Given the description of an element on the screen output the (x, y) to click on. 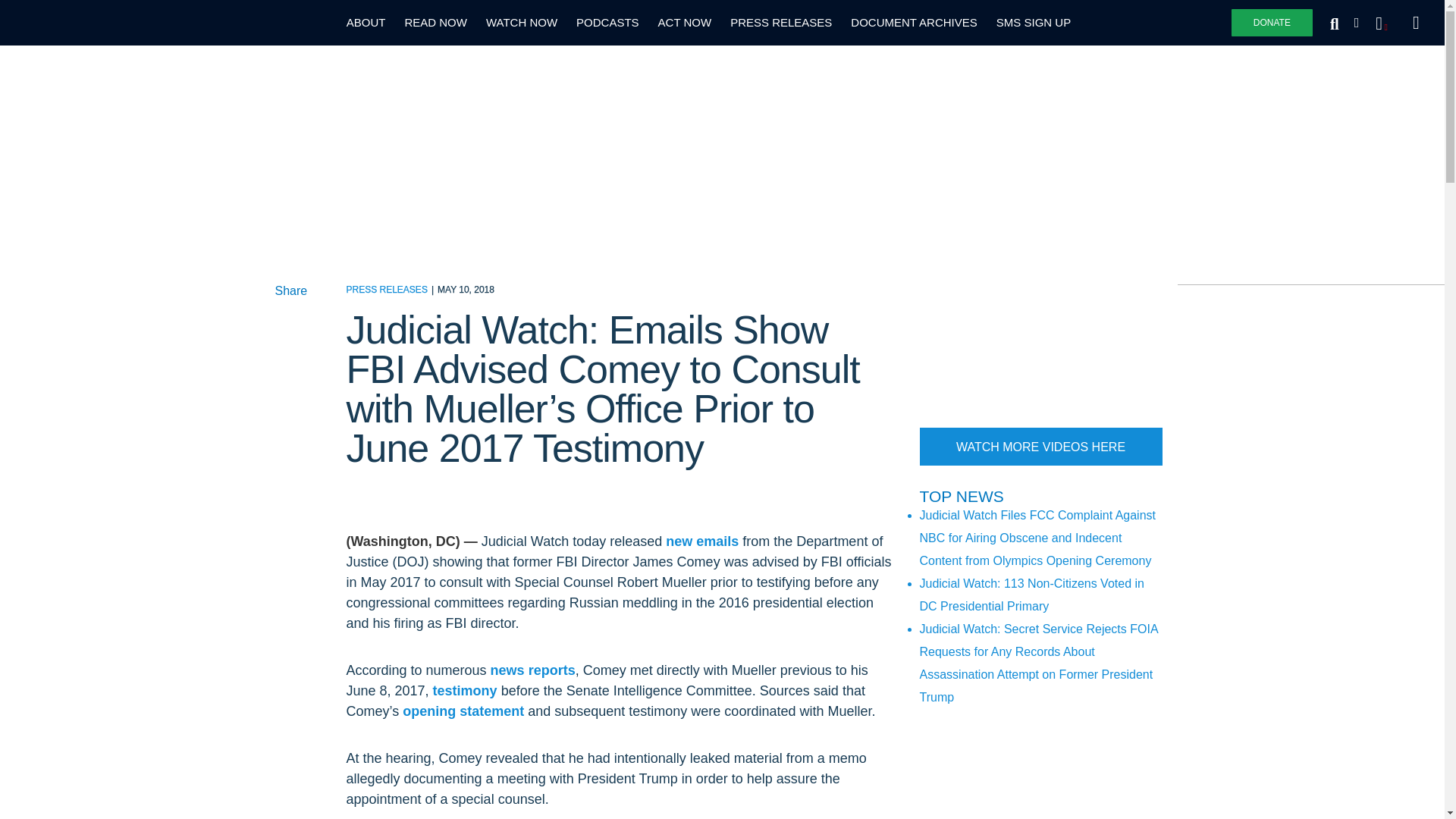
Judicial Watch Homepage (90, 22)
